Given the description of an element on the screen output the (x, y) to click on. 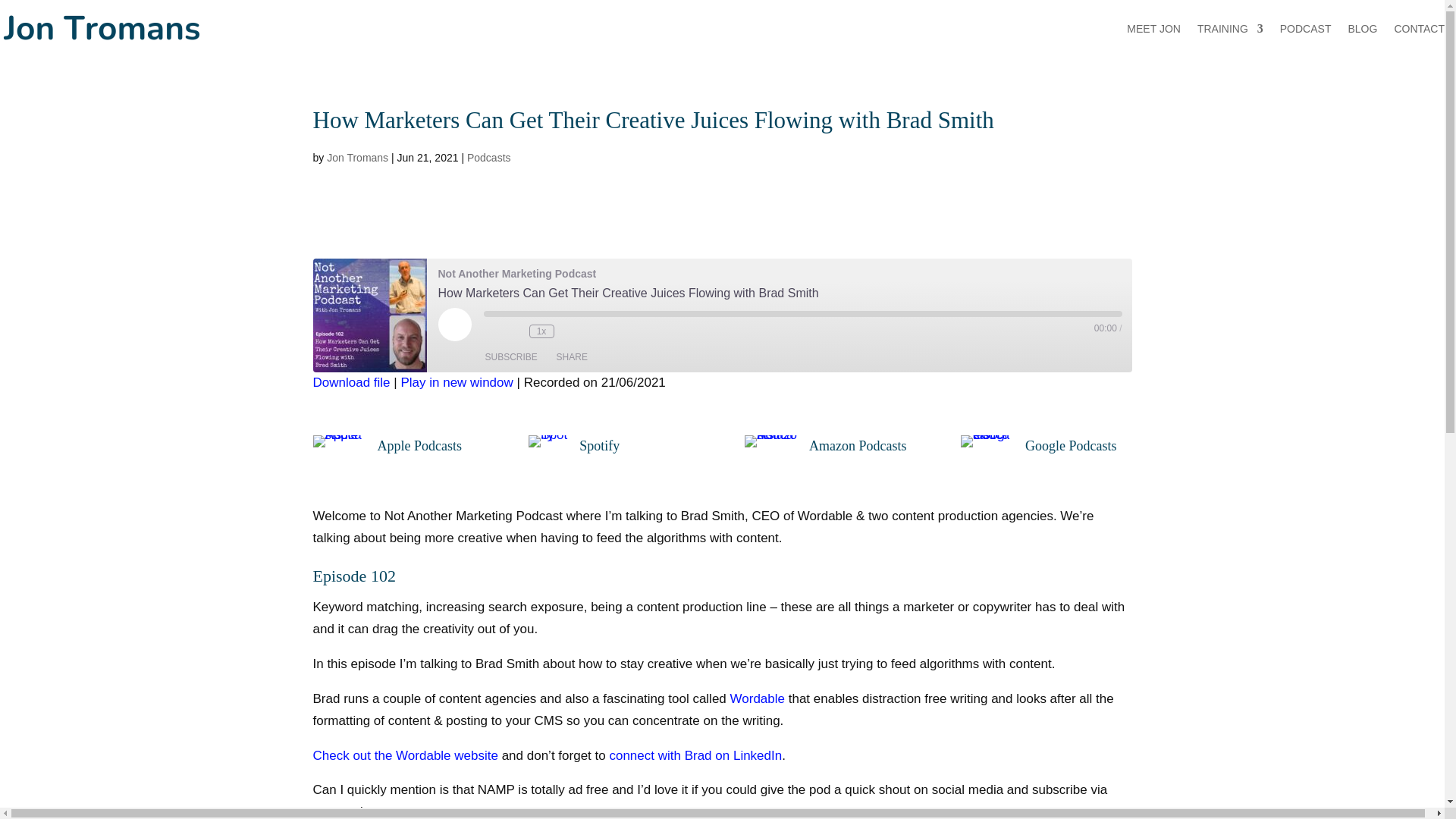
Playback Speed (541, 331)
SHARE (571, 356)
Share (571, 356)
Rewind 10 seconds (513, 331)
Play (454, 324)
Download file (351, 382)
TRAINING (1229, 28)
Subscribe (510, 356)
Podcasts (489, 157)
MEET JON (1153, 28)
